Given the description of an element on the screen output the (x, y) to click on. 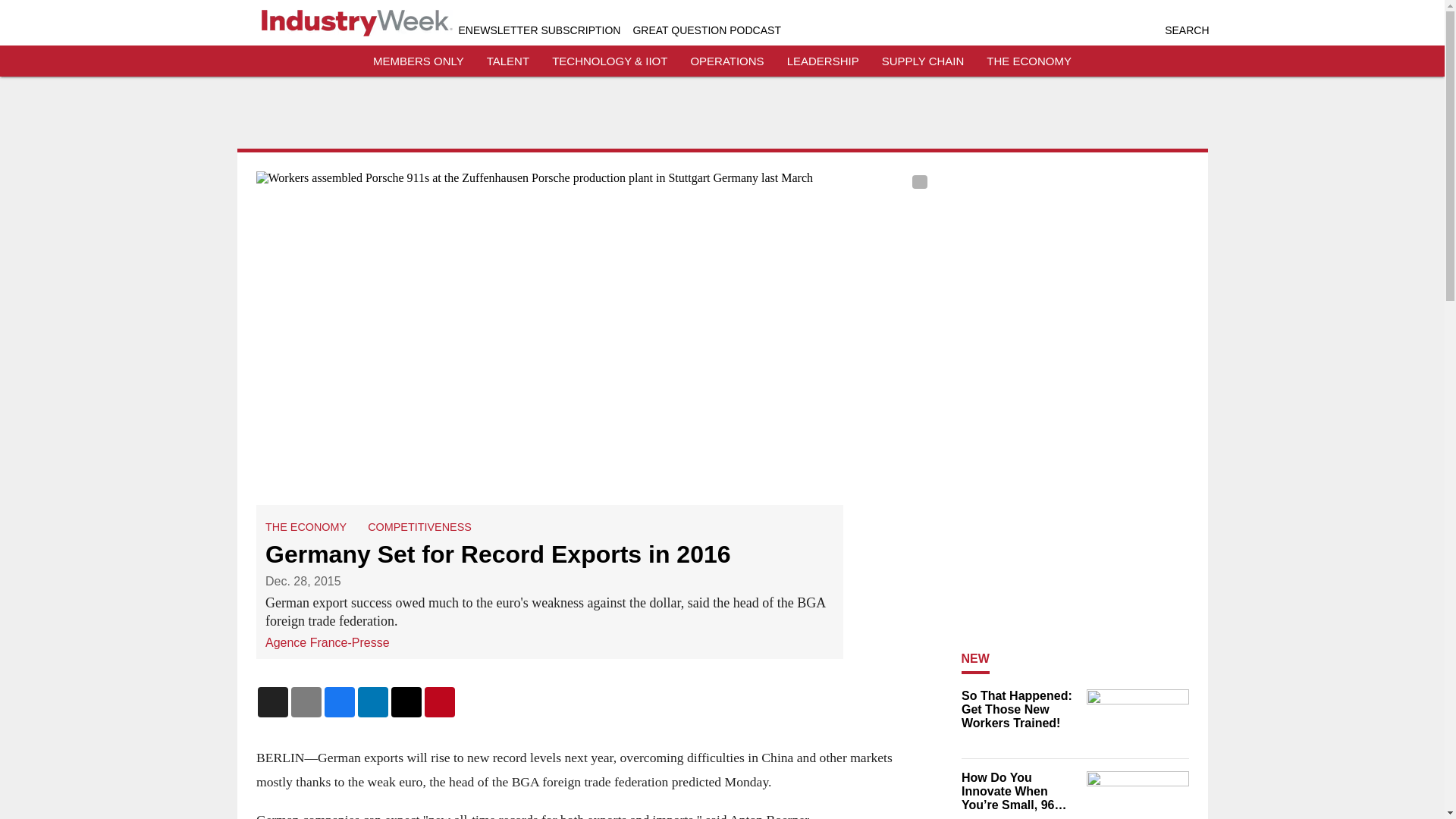
MEMBERS ONLY (418, 60)
TALENT (507, 60)
GREAT QUESTION PODCAST (705, 30)
THE ECONOMY (1029, 60)
Agence France-Presse (327, 642)
OPERATIONS (726, 60)
COMPETITIVENESS (419, 526)
LEADERSHIP (823, 60)
SUPPLY CHAIN (922, 60)
ENEWSLETTER SUBSCRIPTION (539, 30)
THE ECONOMY (305, 526)
So That Happened: Get Those New Workers Trained! (1019, 709)
SEARCH (1186, 30)
